Given the description of an element on the screen output the (x, y) to click on. 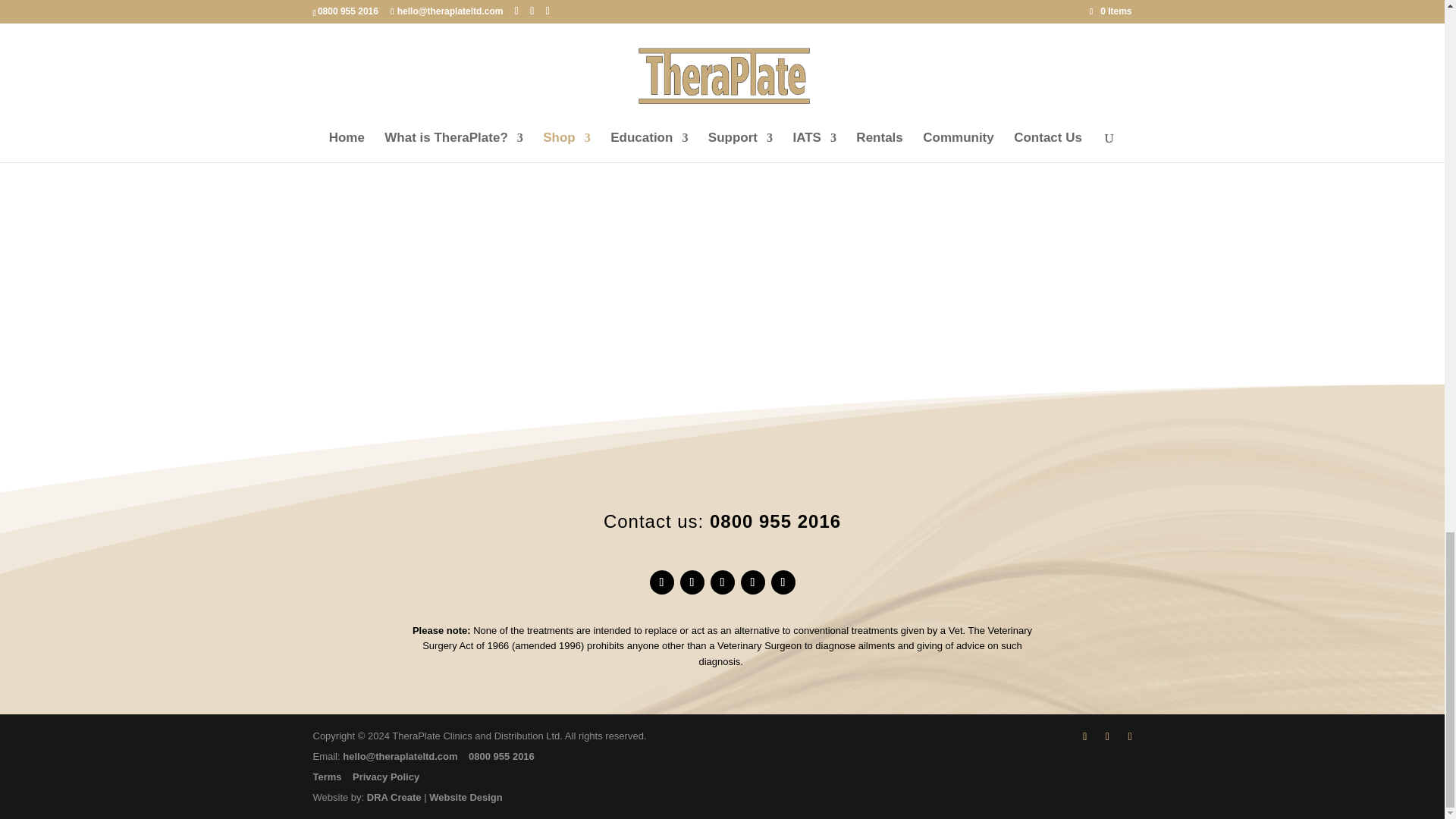
Follow on X (691, 582)
Follow on Facebook (660, 582)
Follow on Instagram (751, 582)
Follow on LinkedIn (721, 582)
0800 955 2016 (775, 521)
Follow on Youtube (782, 582)
